Given the description of an element on the screen output the (x, y) to click on. 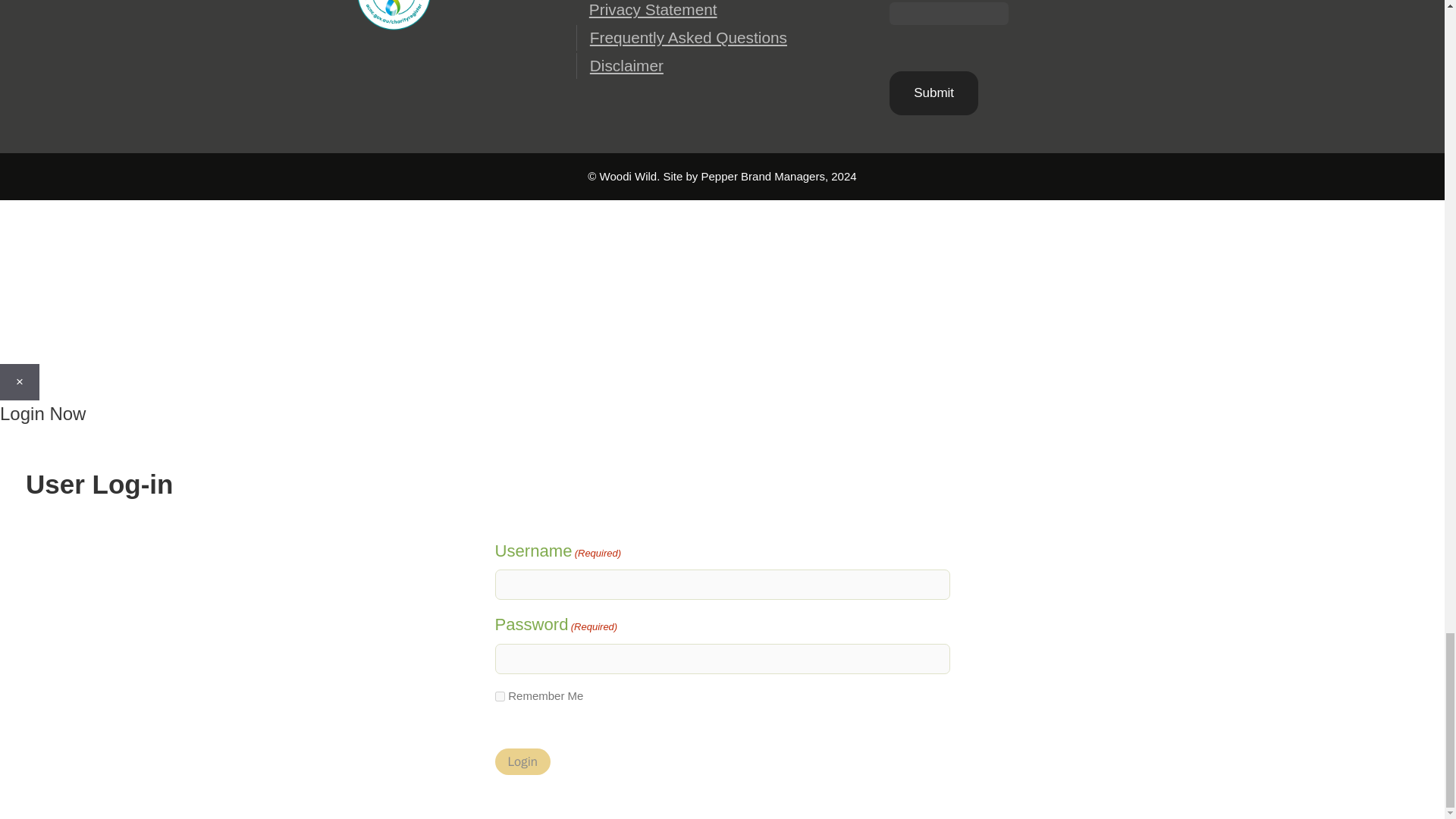
Login (522, 761)
1 (499, 696)
Submit (933, 93)
